Given the description of an element on the screen output the (x, y) to click on. 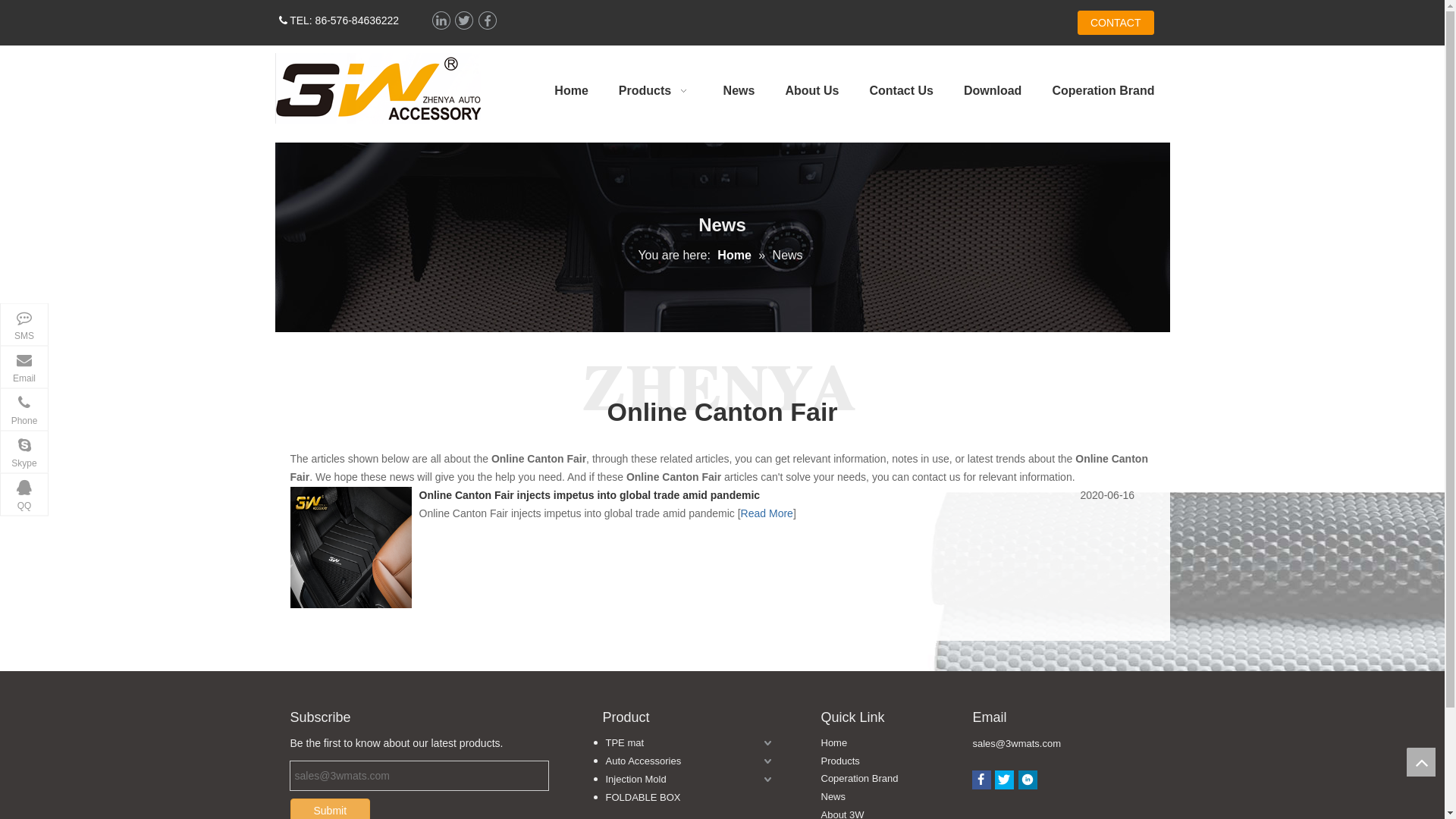
Download Element type: text (992, 90)
86-576-84636222 Element type: text (104, 412)
Shana 3W mats Element type: text (100, 455)
Home Element type: text (735, 254)
Skype Element type: text (24, 451)
About Us Element type: text (811, 90)
Twitter Element type: hover (463, 20)
Linkedin Element type: hover (1027, 779)
8165314 Element type: hover (377, 88)
Read More Element type: text (766, 513)
Twitter Element type: hover (1003, 779)
Products   Element type: text (655, 90)
News Element type: text (739, 90)
Coperation Brand Element type: text (1102, 90)
FOLDABLE BOX Element type: text (684, 797)
QQ Element type: text (24, 494)
CONTACT Element type: text (1115, 22)
sale@zhenyacar.com Element type: text (112, 370)
Contact Us Element type: text (900, 90)
Home Element type: text (833, 742)
top Element type: text (1420, 761)
Facebook Element type: hover (981, 779)
TPE mat Element type: text (684, 743)
1024970749 Element type: text (91, 497)
Linkedin Element type: hover (439, 20)
Auto Accessories Element type: text (684, 761)
Email Element type: text (24, 366)
Facebook Element type: hover (486, 20)
+86-15325585558 Element type: text (105, 328)
sales@3wmats.com Element type: text (1016, 743)
News Element type: text (832, 796)
Injection Mold Element type: text (684, 779)
Coperation Brand Element type: text (858, 778)
SMS Element type: text (24, 324)
Phone Element type: text (24, 409)
Home Element type: text (570, 90)
Products Element type: text (839, 760)
